Given the description of an element on the screen output the (x, y) to click on. 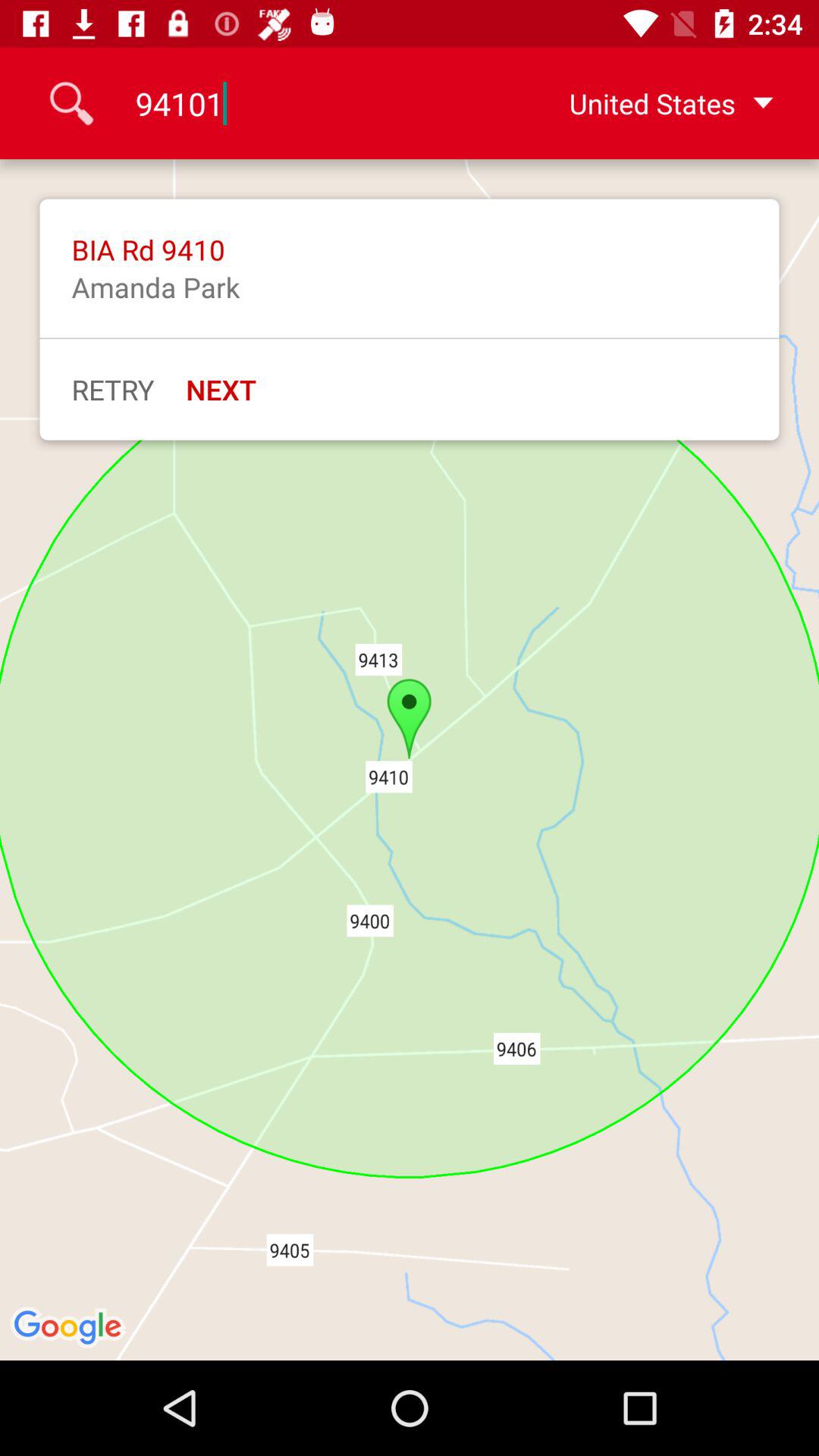
jump to next item (220, 389)
